Given the description of an element on the screen output the (x, y) to click on. 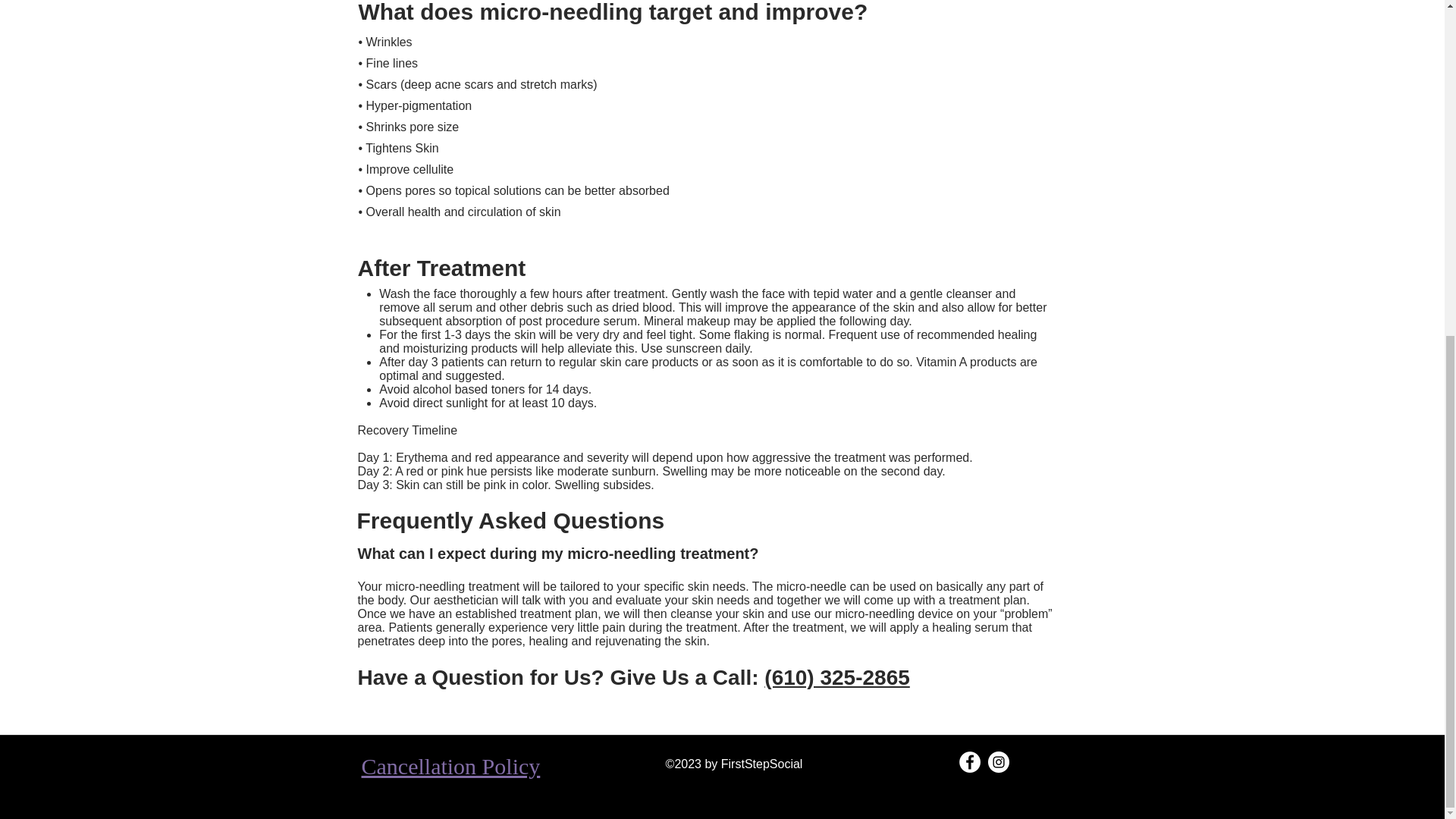
Cancellation Policy (450, 765)
